Given the description of an element on the screen output the (x, y) to click on. 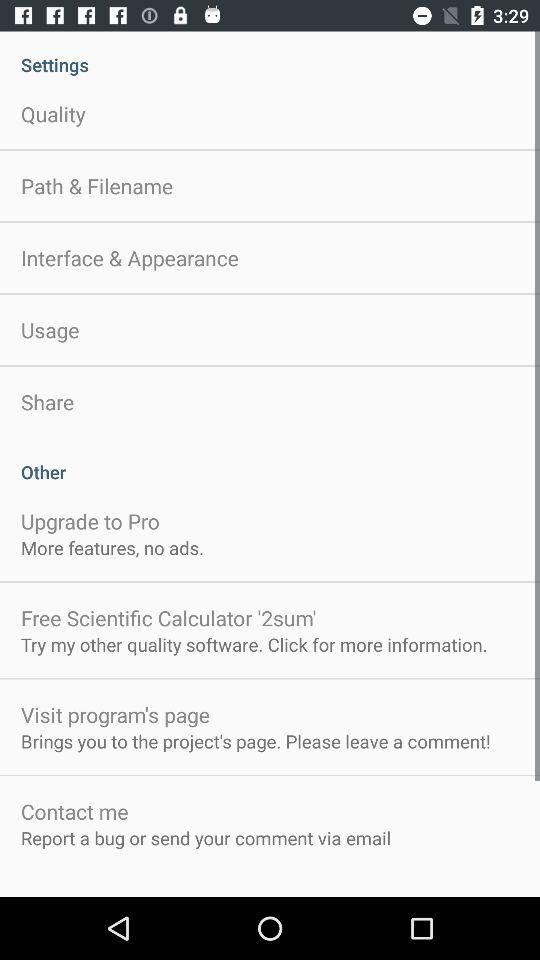
turn on the item below other item (90, 520)
